Given the description of an element on the screen output the (x, y) to click on. 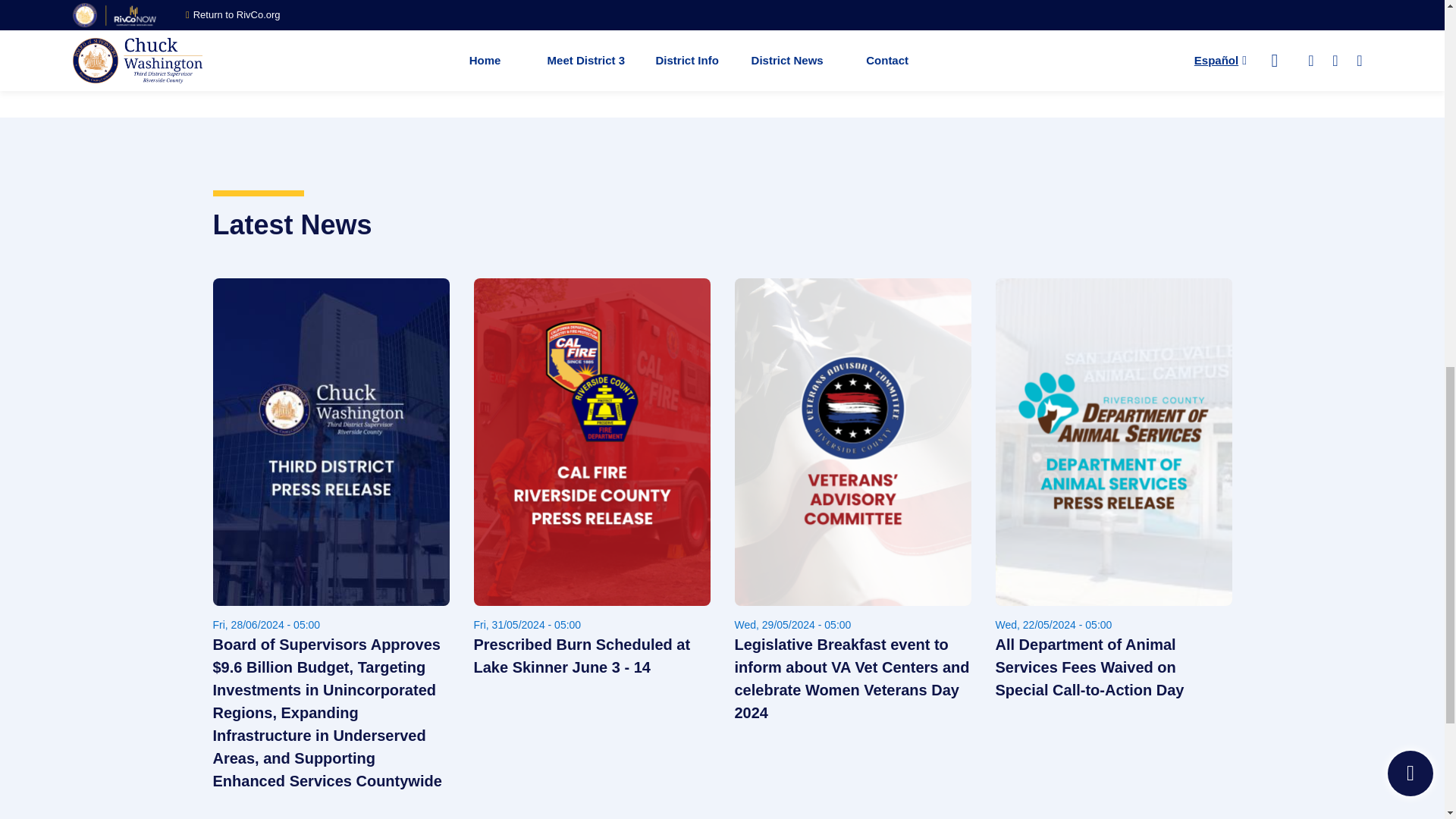
Prescribed Burn Scheduled at Lake Skinner June 3 - 14 (591, 655)
Appointment Board Agenda Item (405, 47)
